Given the description of an element on the screen output the (x, y) to click on. 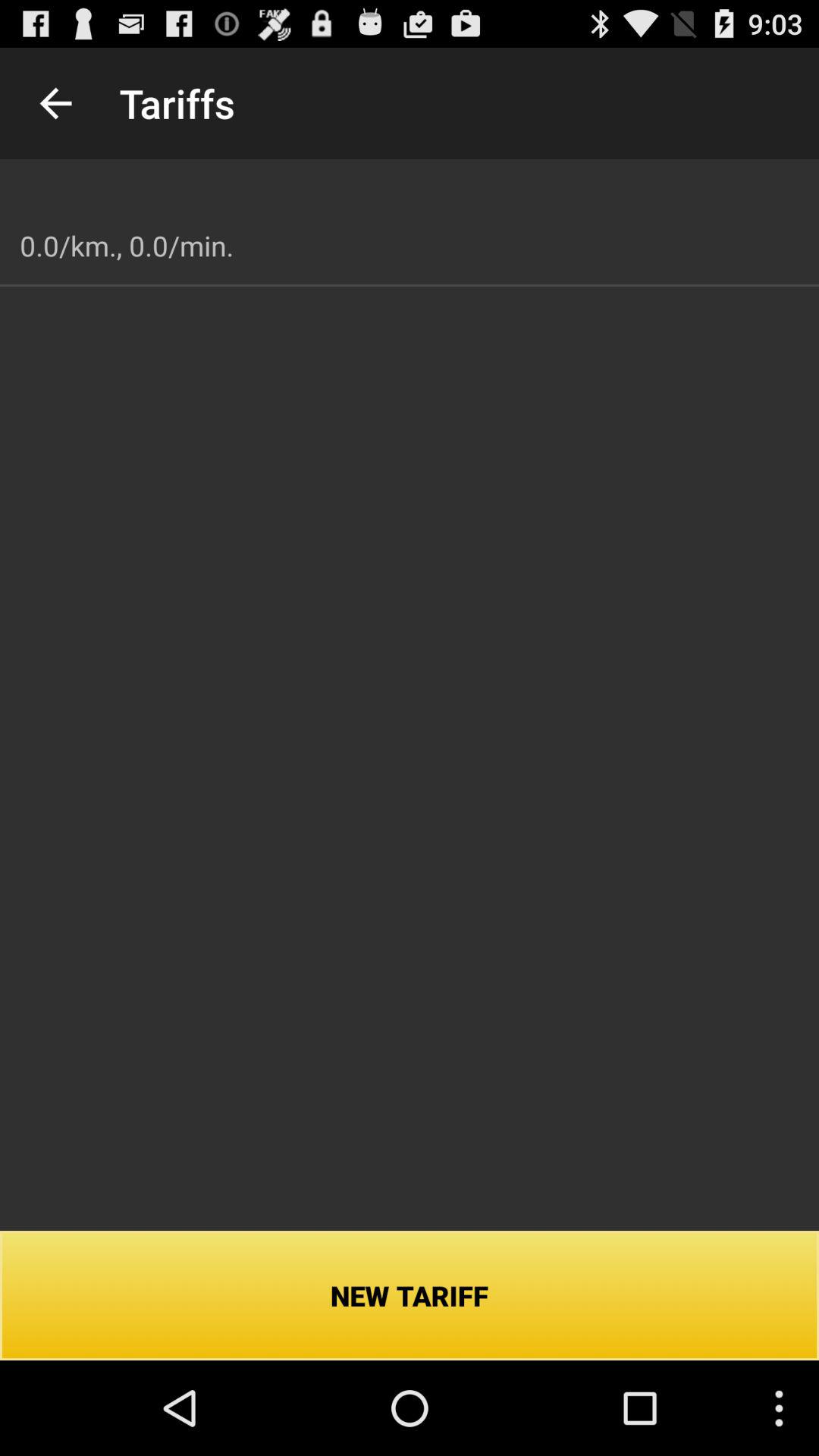
open the icon to the left of tariffs app (55, 103)
